Given the description of an element on the screen output the (x, y) to click on. 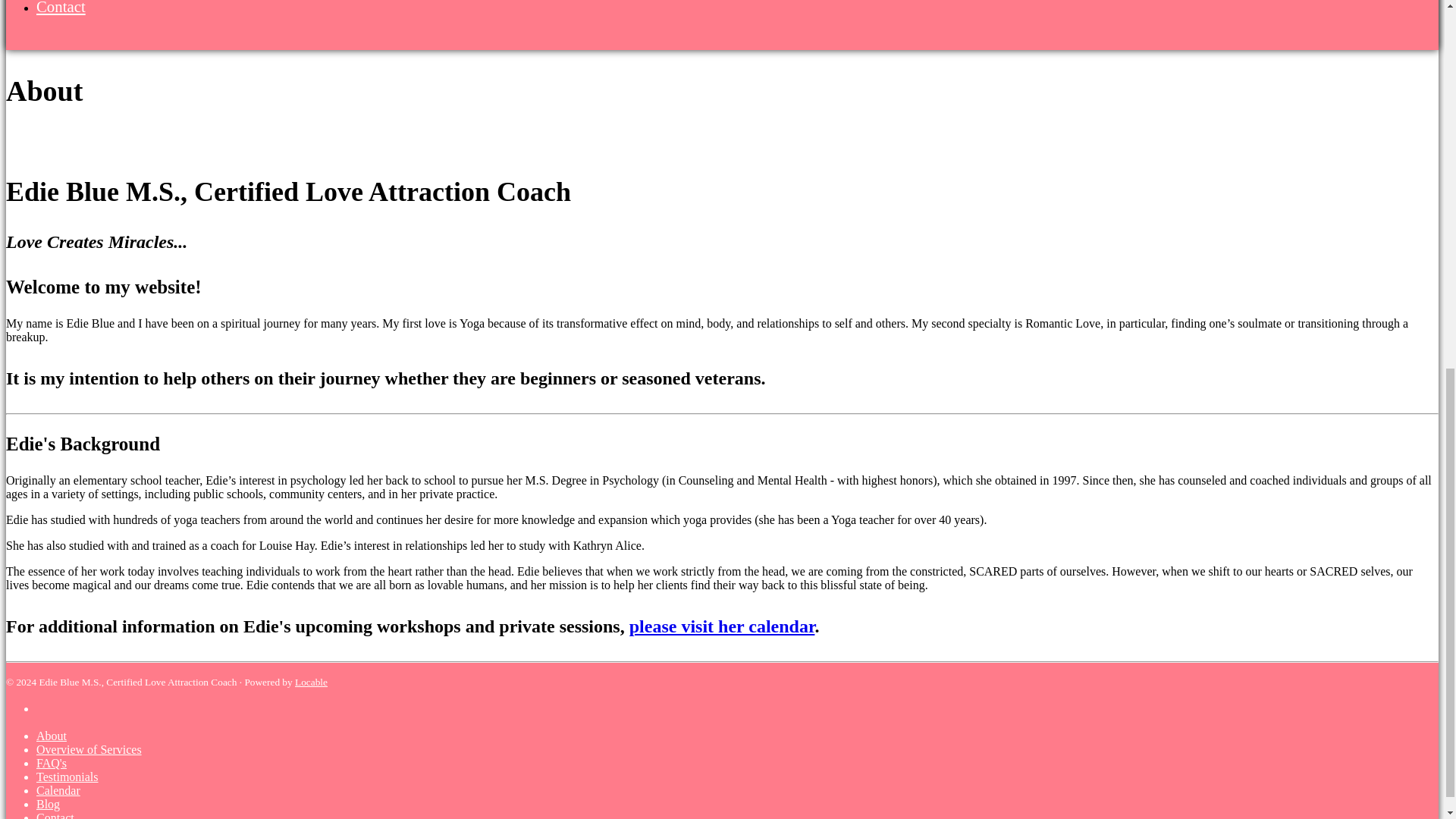
Calendar (58, 789)
Locable (311, 681)
please visit her calendar (721, 626)
Blog (47, 803)
Overview of Services (88, 748)
FAQ's (51, 762)
About (51, 735)
Testimonials (67, 776)
Contact (60, 7)
